Given the description of an element on the screen output the (x, y) to click on. 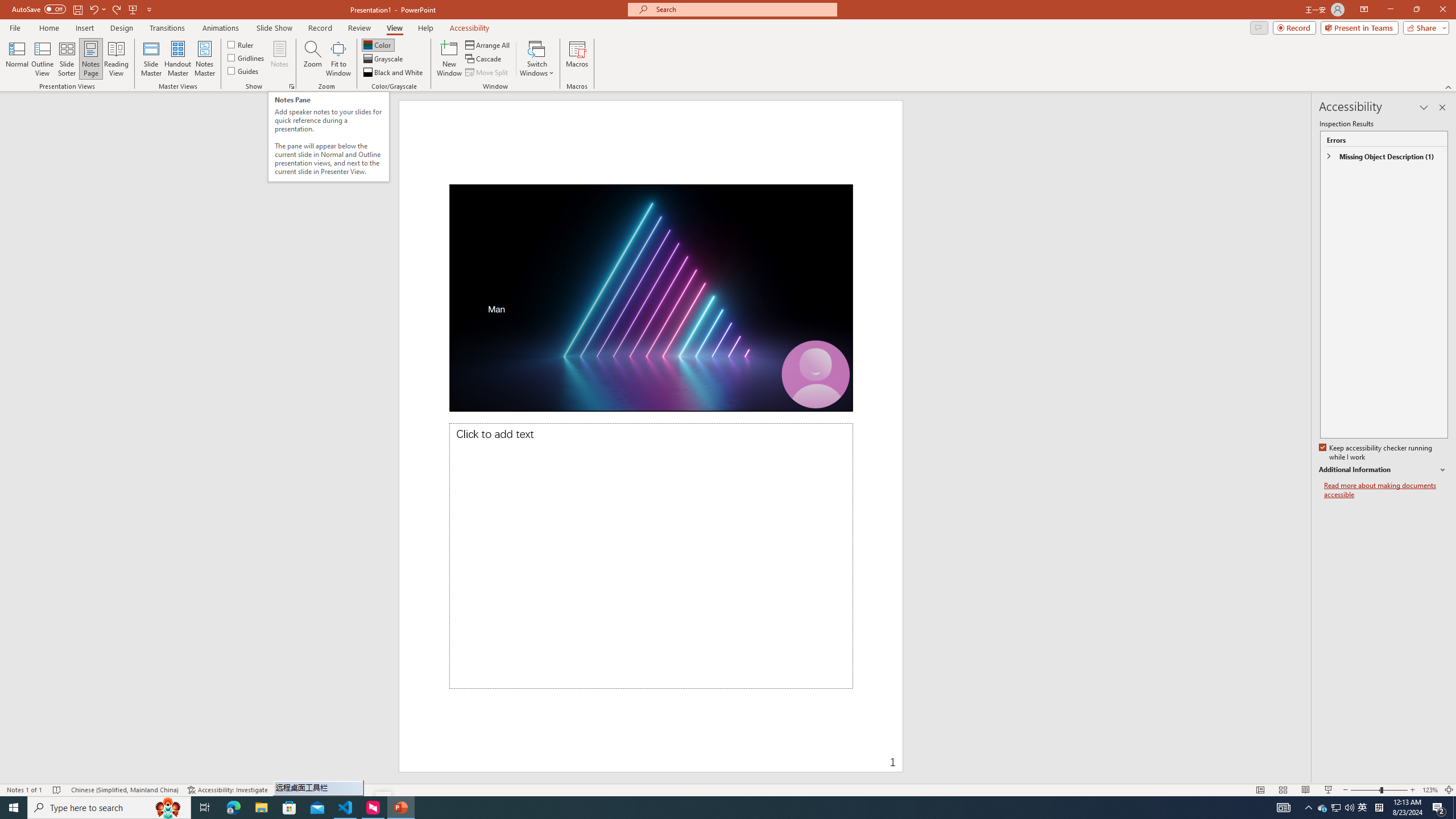
Macros (576, 58)
Guides (243, 69)
Grid Settings... (291, 85)
